Given the description of an element on the screen output the (x, y) to click on. 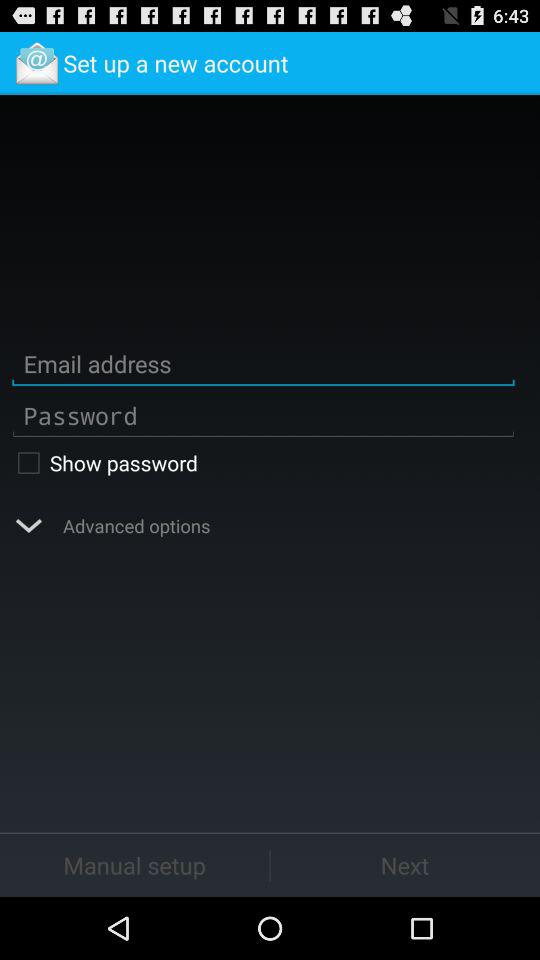
jump to manual setup button (134, 864)
